Given the description of an element on the screen output the (x, y) to click on. 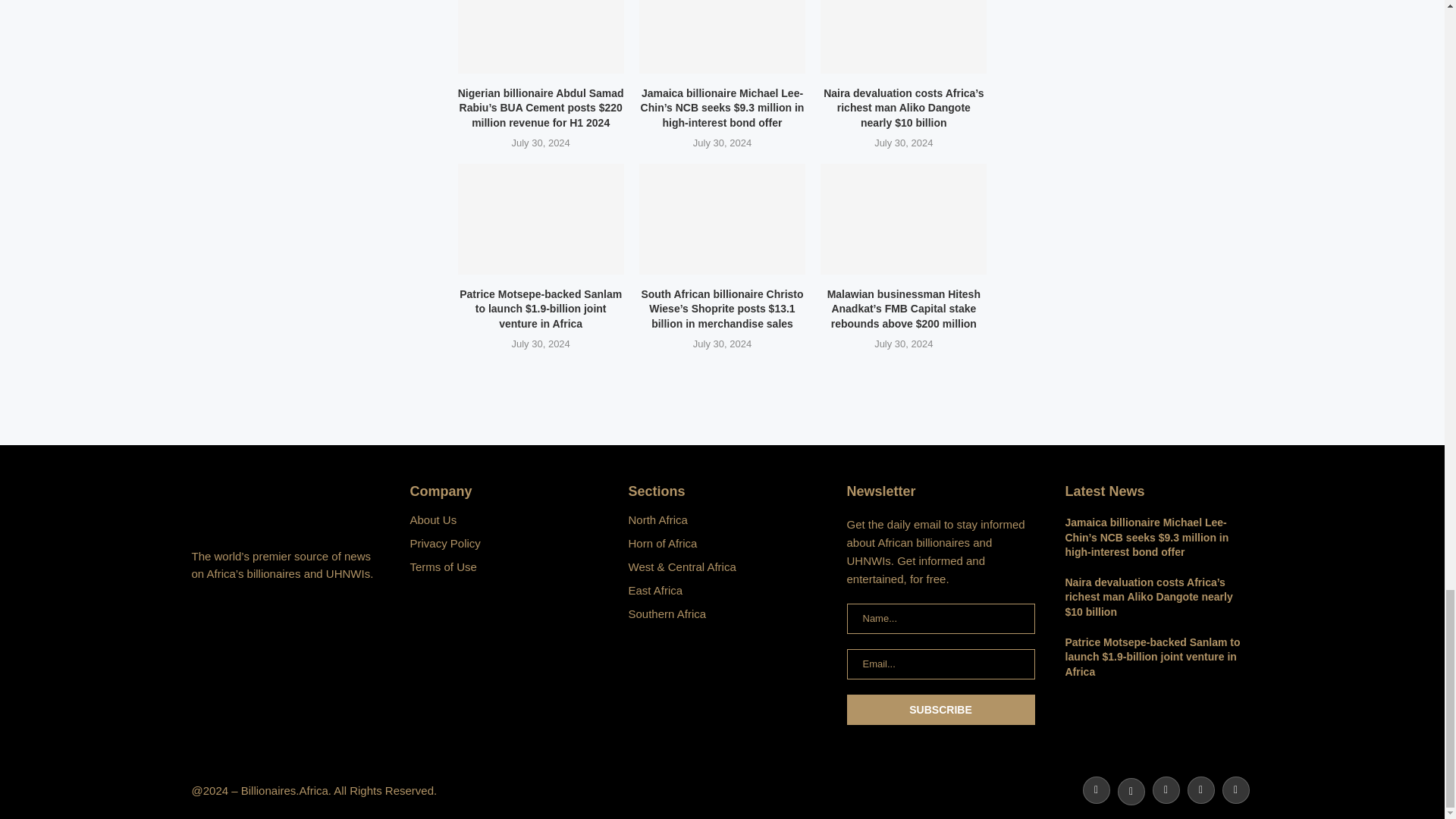
Subscribe (939, 709)
